Given the description of an element on the screen output the (x, y) to click on. 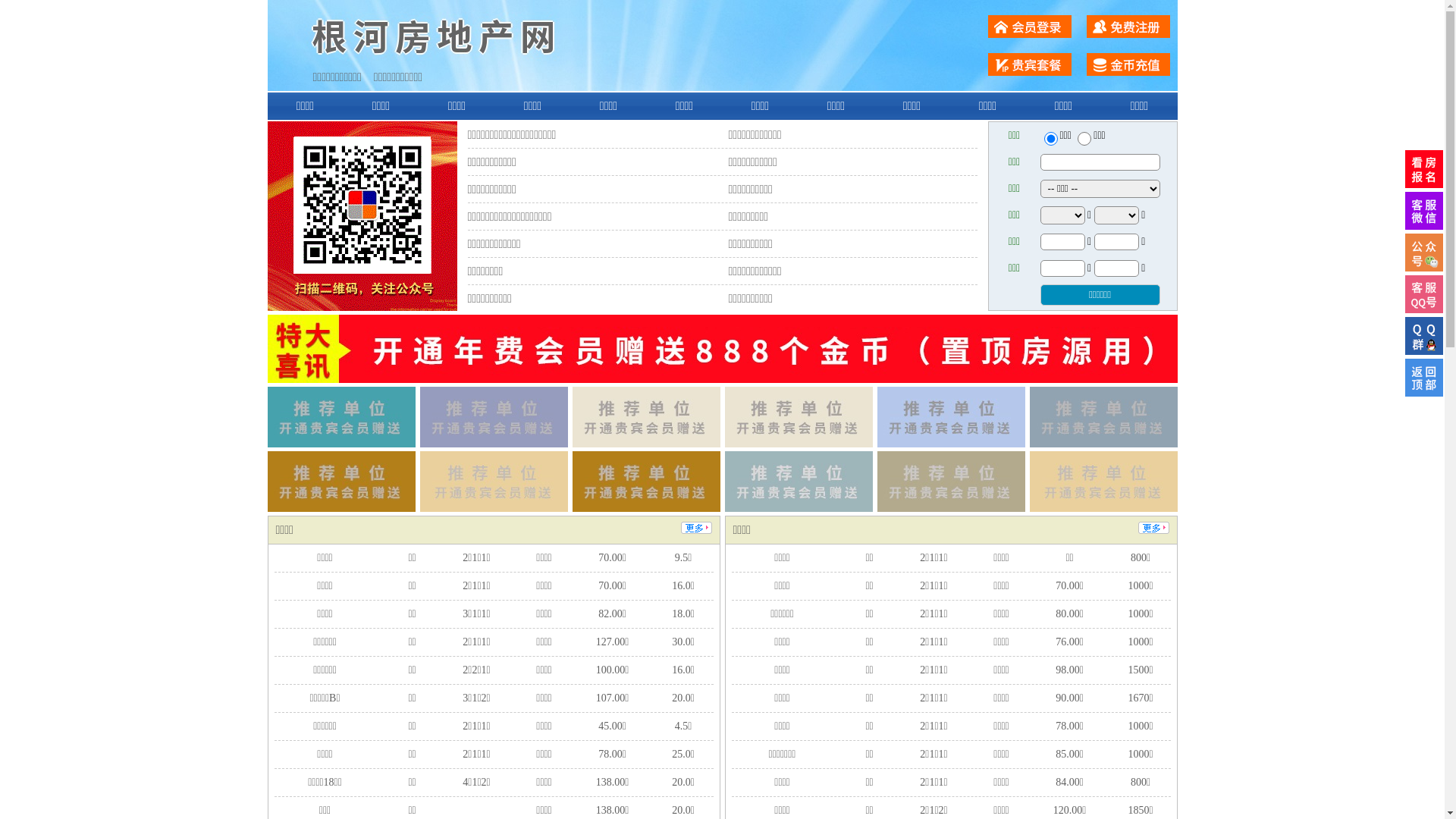
chuzu Element type: text (1084, 138)
ershou Element type: text (1050, 138)
